Given the description of an element on the screen output the (x, y) to click on. 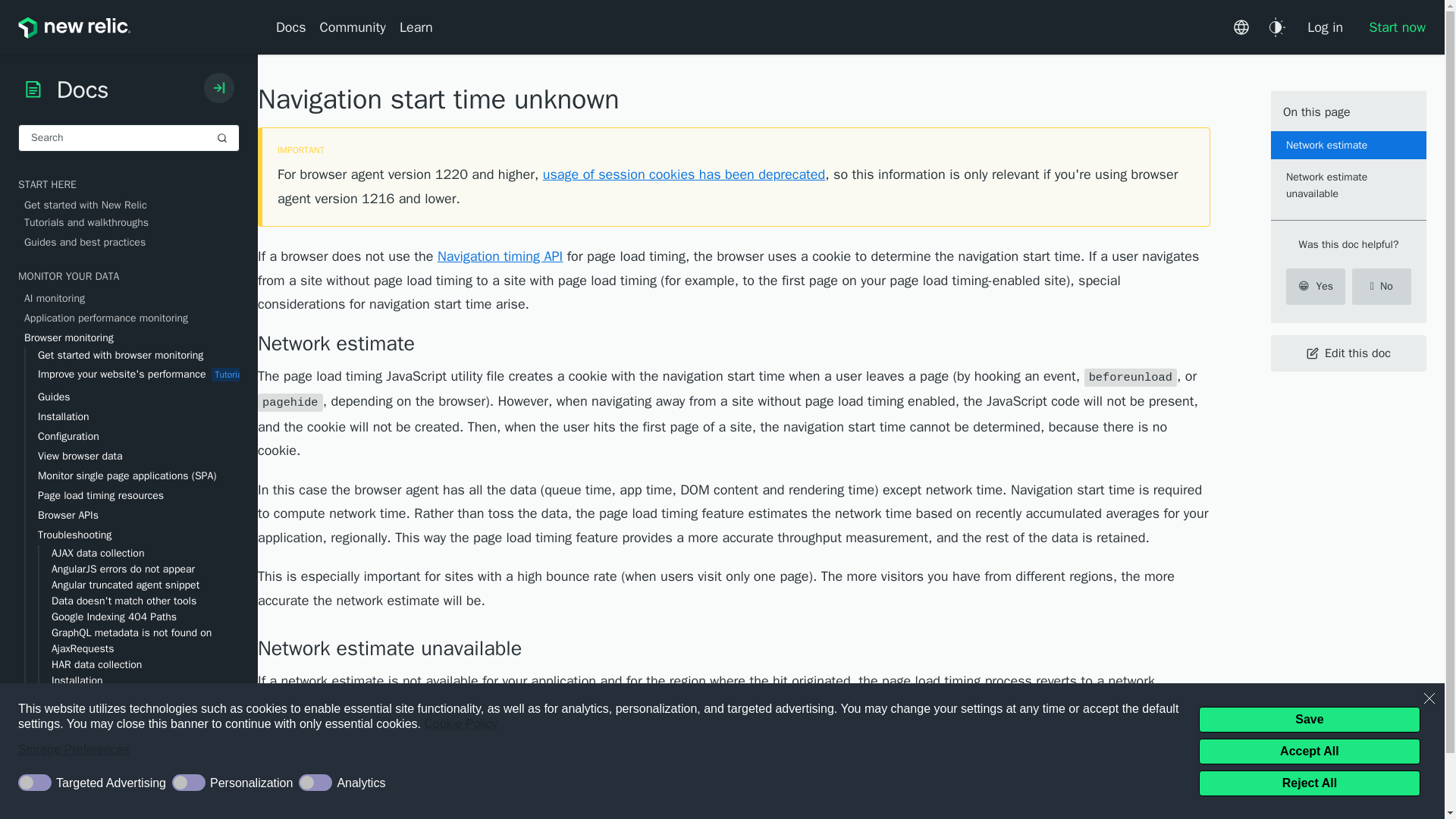
Start now (1390, 26)
Improve your website's performanceTutorial (138, 375)
Get started with New Relic (131, 204)
Reject All (1309, 783)
Get started with browser monitoring (138, 355)
Storage Preferences (601, 749)
Log in (1324, 26)
Docs (294, 27)
Community (353, 27)
Accept All (1309, 751)
